Given the description of an element on the screen output the (x, y) to click on. 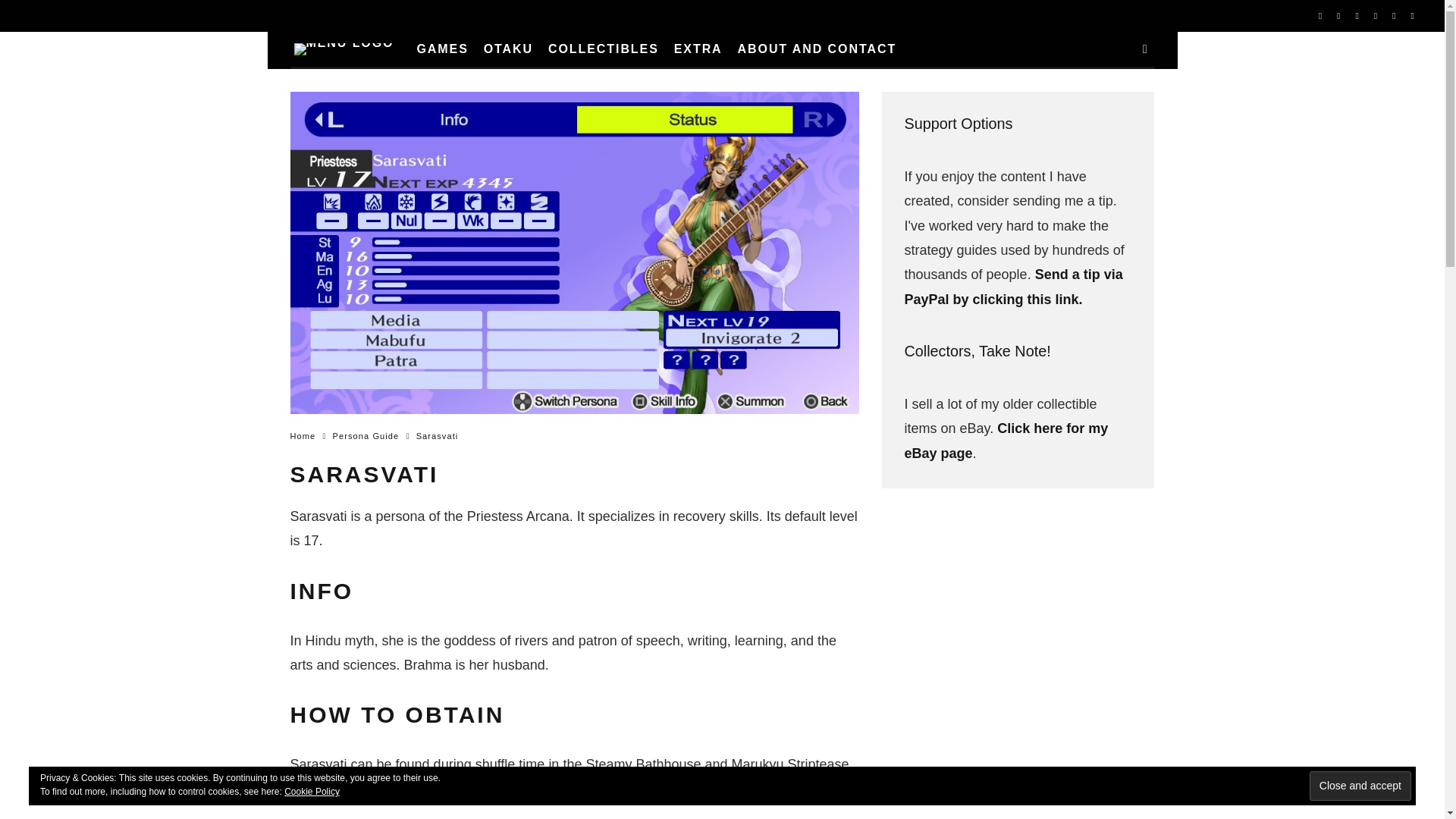
OTAKU (508, 48)
GAMES (442, 48)
Close and accept (1359, 785)
